Given the description of an element on the screen output the (x, y) to click on. 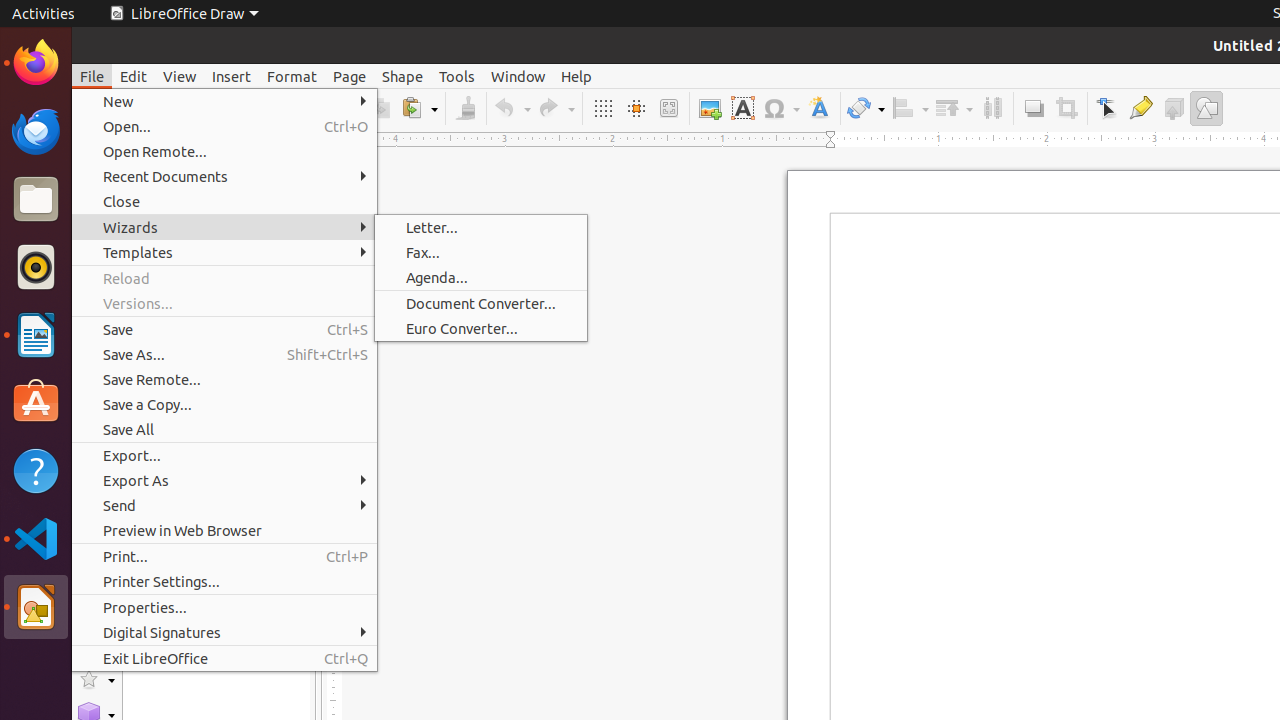
Paste Element type: push-button (419, 108)
Euro Converter... Element type: menu-item (481, 328)
Arrange Element type: push-button (954, 108)
Open Remote... Element type: menu-item (224, 151)
Versions... Element type: menu-item (224, 303)
